Given the description of an element on the screen output the (x, y) to click on. 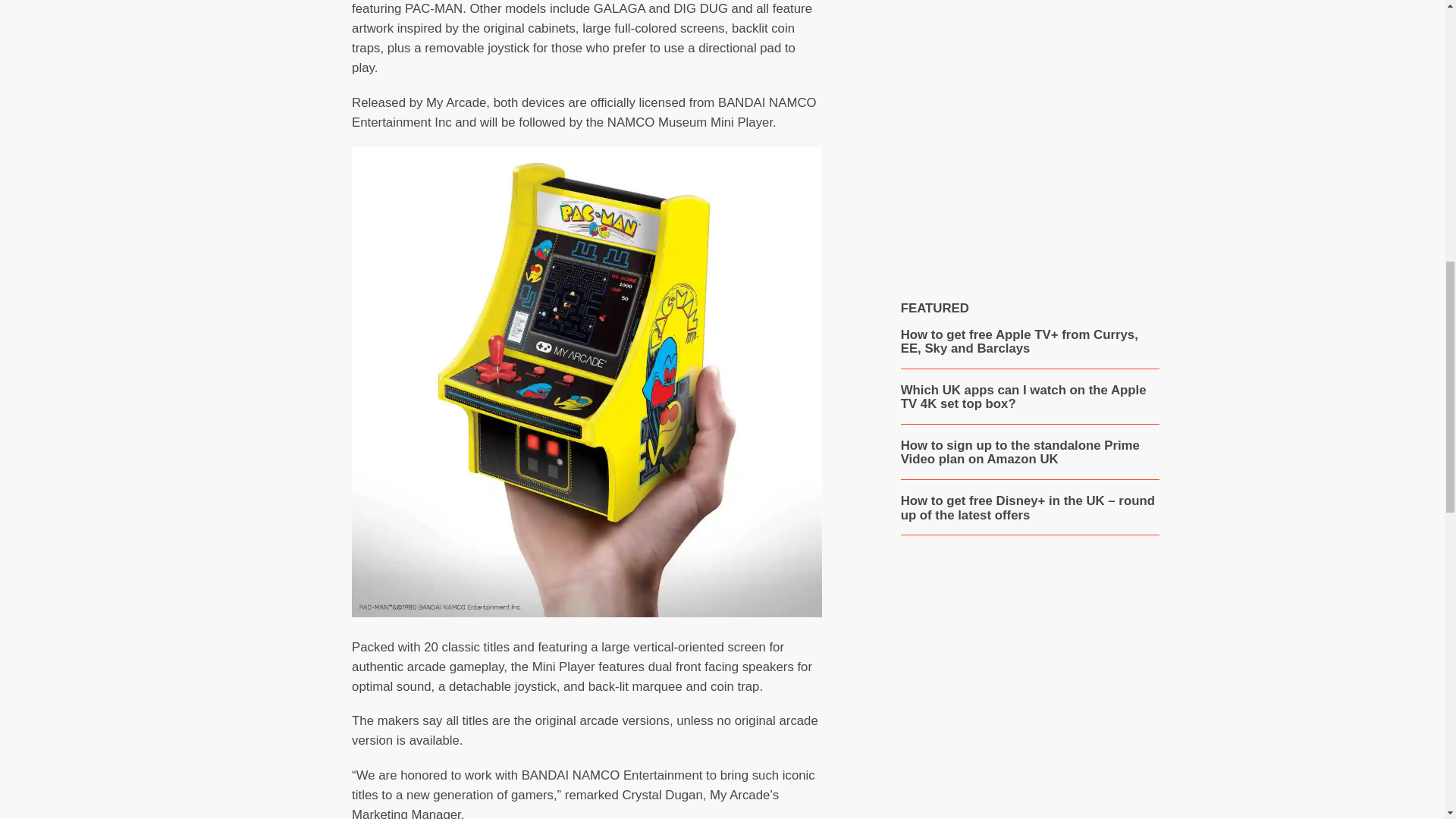
Which UK apps can I watch on the Apple TV 4K set top box? (1029, 397)
Advertisement (1028, 121)
